Given the description of an element on the screen output the (x, y) to click on. 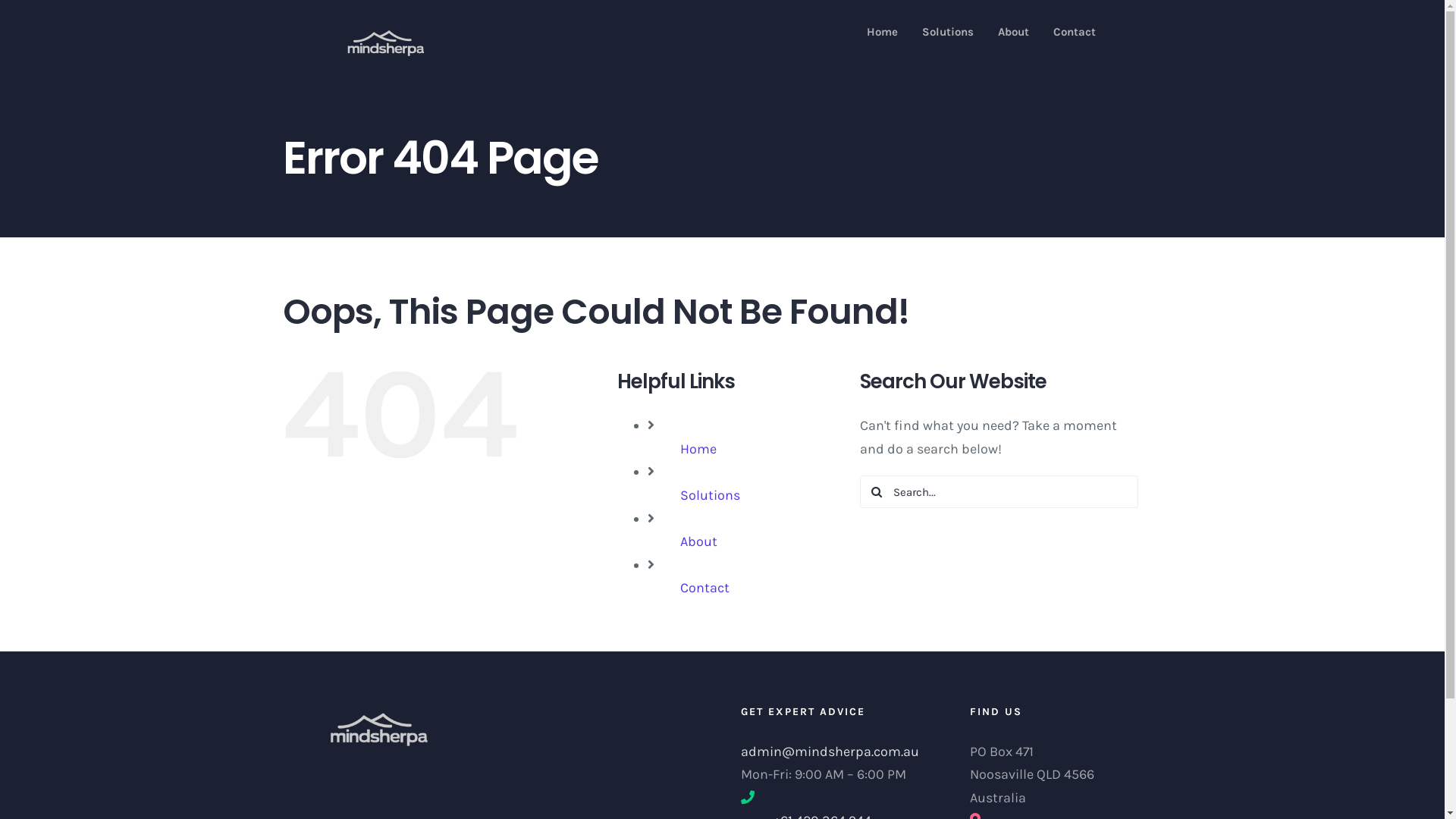
About Element type: text (698, 541)
Solutions Element type: text (947, 31)
Contact Element type: text (704, 587)
Home Element type: text (881, 31)
admin@mindsherpa.com.au Element type: text (836, 751)
Solutions Element type: text (710, 494)
About Element type: text (1013, 31)
Home Element type: text (698, 448)
Contact Element type: text (1074, 31)
